Given the description of an element on the screen output the (x, y) to click on. 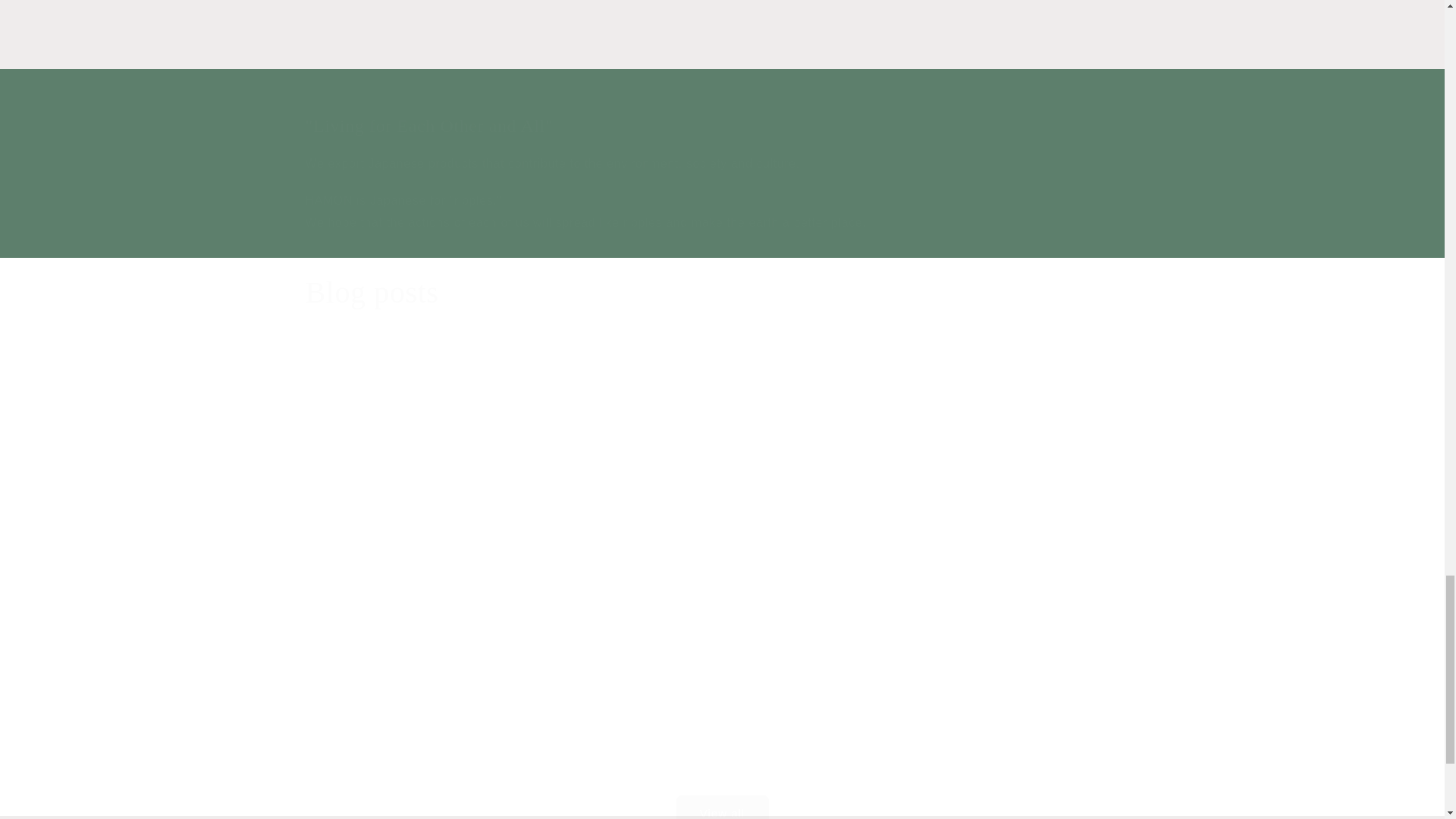
View all (721, 788)
"Living for Each Other and All" (721, 42)
Blog posts (721, 34)
